Given the description of an element on the screen output the (x, y) to click on. 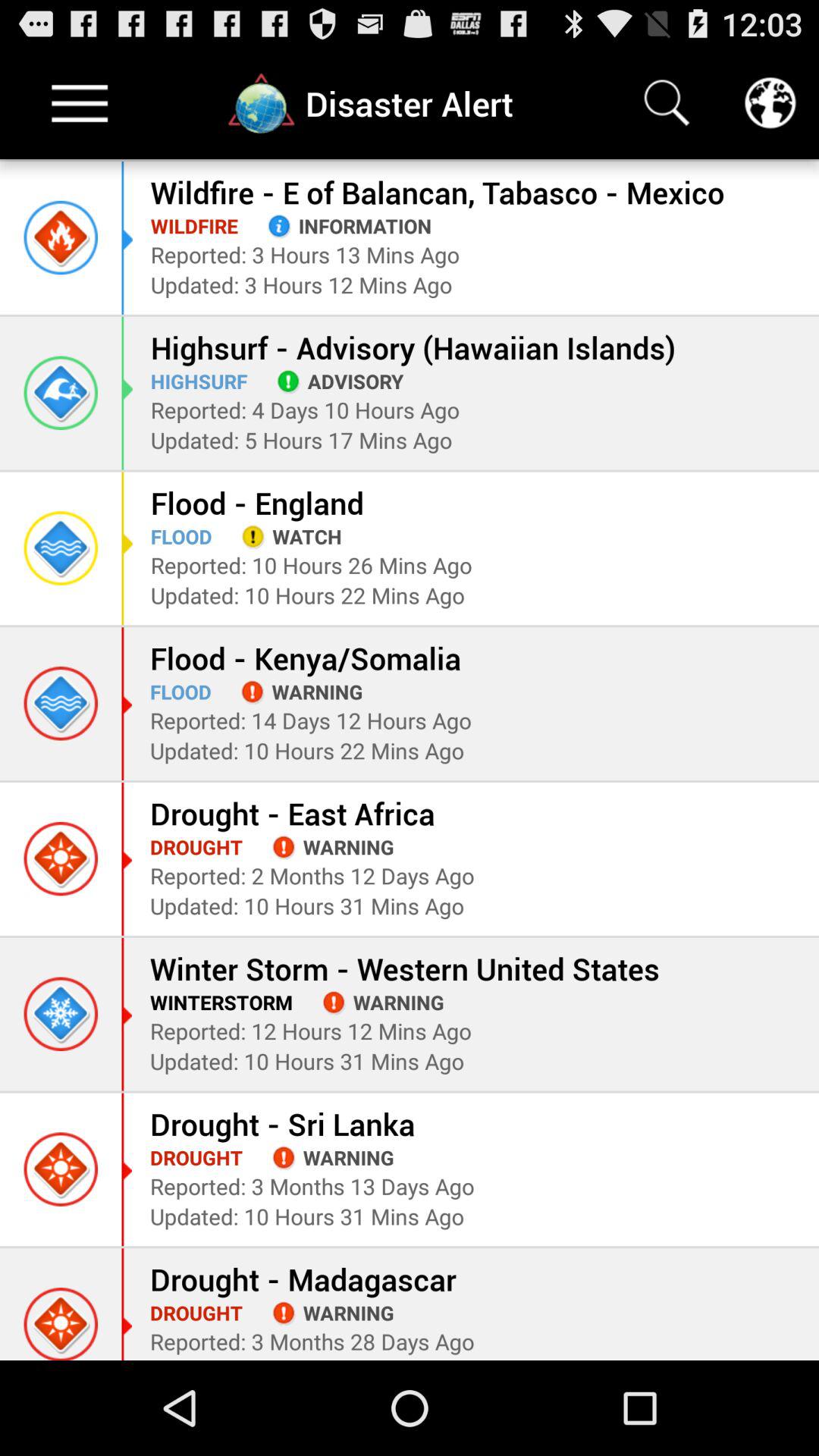
search (666, 102)
